Given the description of an element on the screen output the (x, y) to click on. 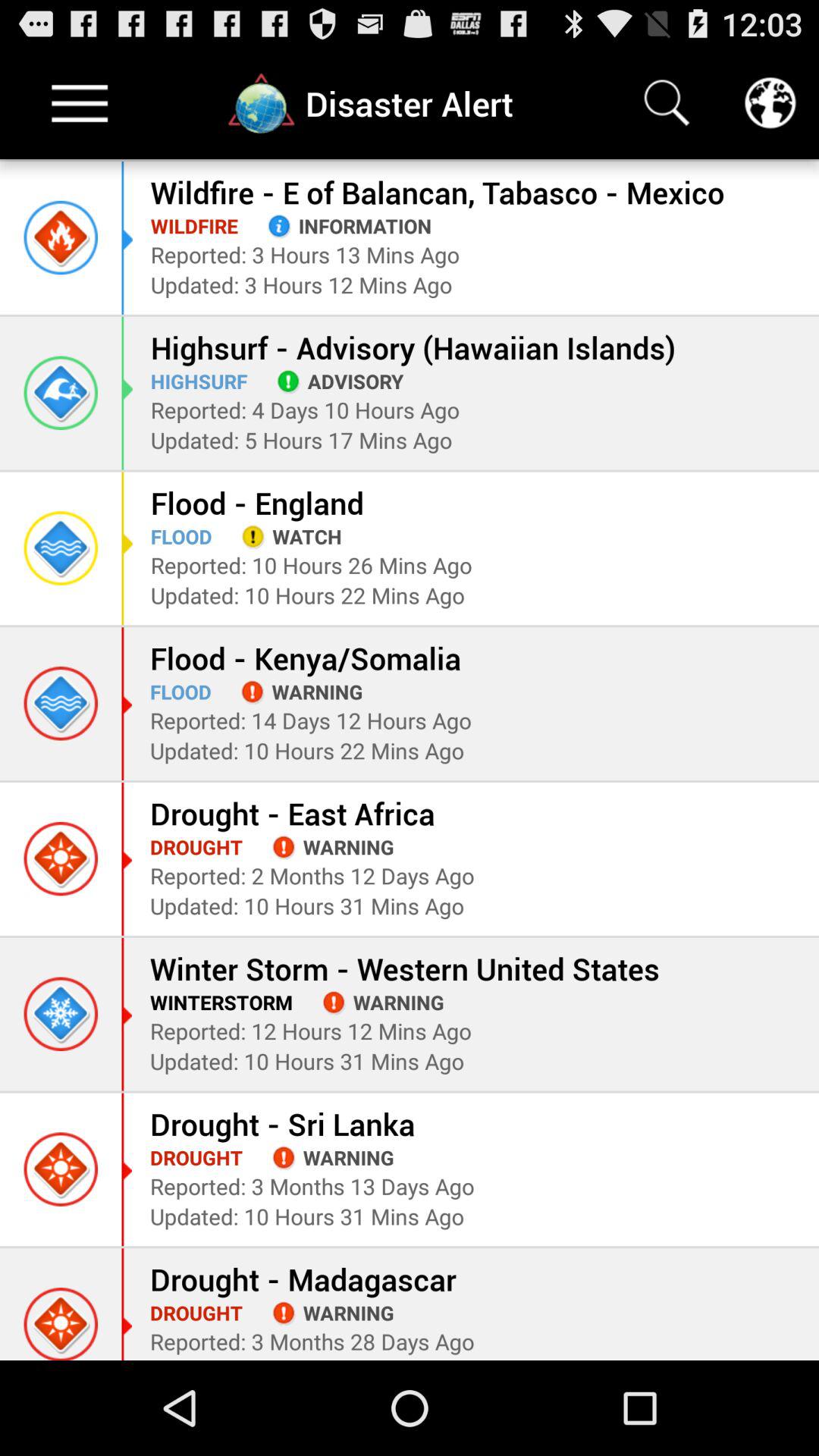
search (666, 102)
